Given the description of an element on the screen output the (x, y) to click on. 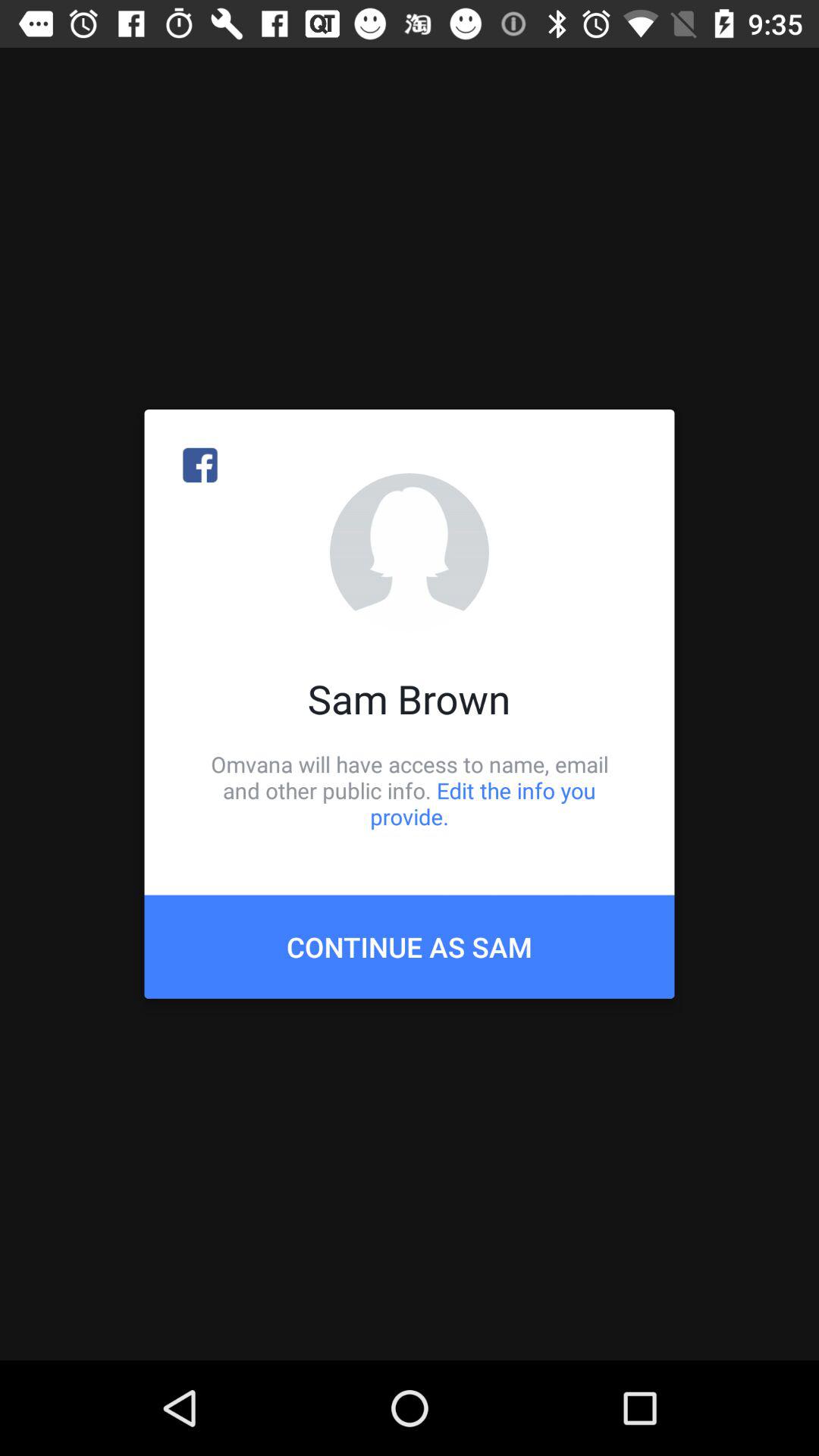
choose continue as sam icon (409, 946)
